Given the description of an element on the screen output the (x, y) to click on. 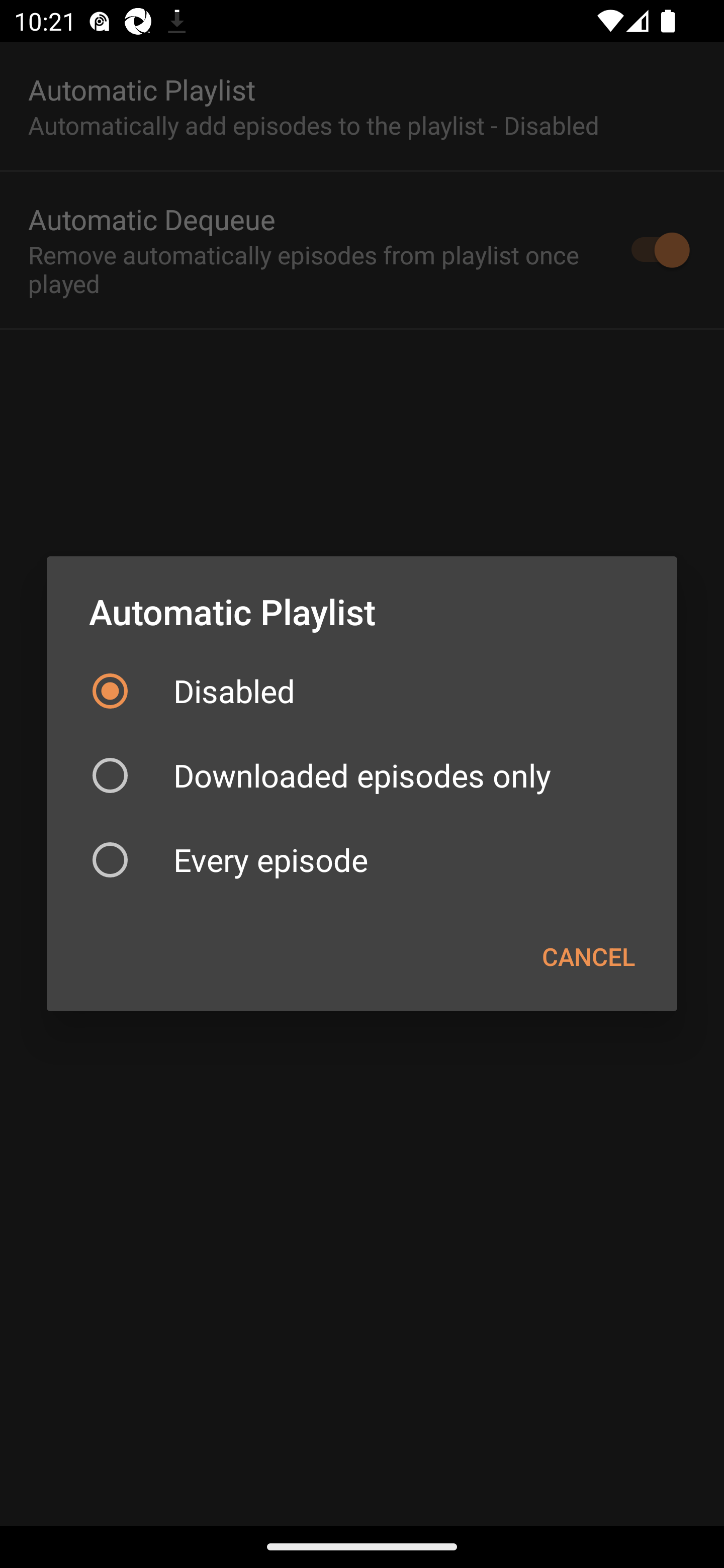
Disabled (361, 691)
Downloaded episodes only (361, 774)
Every episode (361, 858)
CANCEL (587, 956)
